Given the description of an element on the screen output the (x, y) to click on. 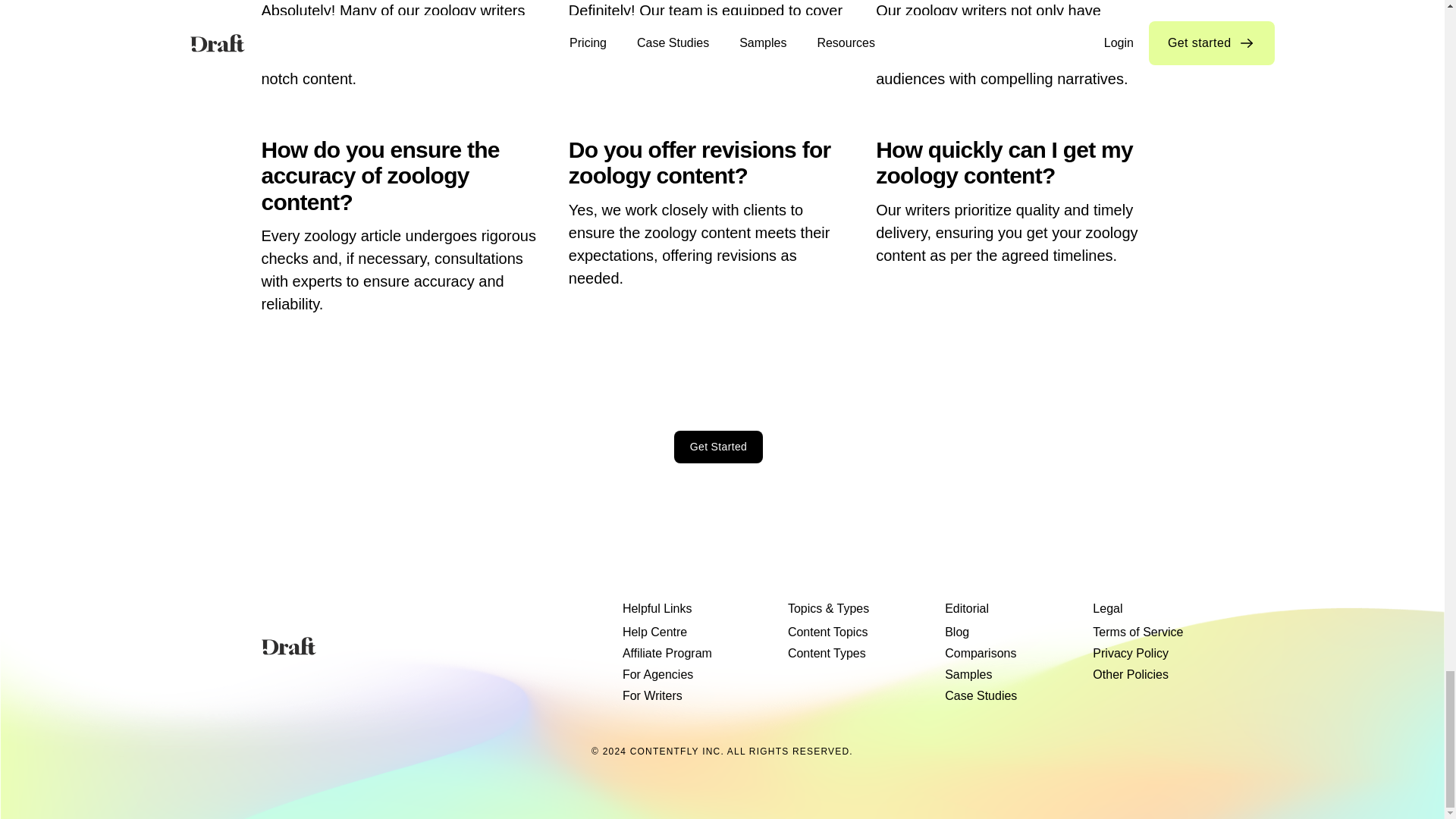
Content Types (826, 653)
Help Centre (655, 631)
Privacy Policy (1131, 653)
For Agencies (658, 674)
Comparisons (980, 653)
For Writers (652, 695)
Blog (956, 631)
Samples (967, 674)
Affiliate Program (667, 653)
Get Started (718, 446)
Terms of Service (1137, 631)
Case Studies (980, 695)
Other Policies (1131, 674)
Content Topics (827, 631)
